Given the description of an element on the screen output the (x, y) to click on. 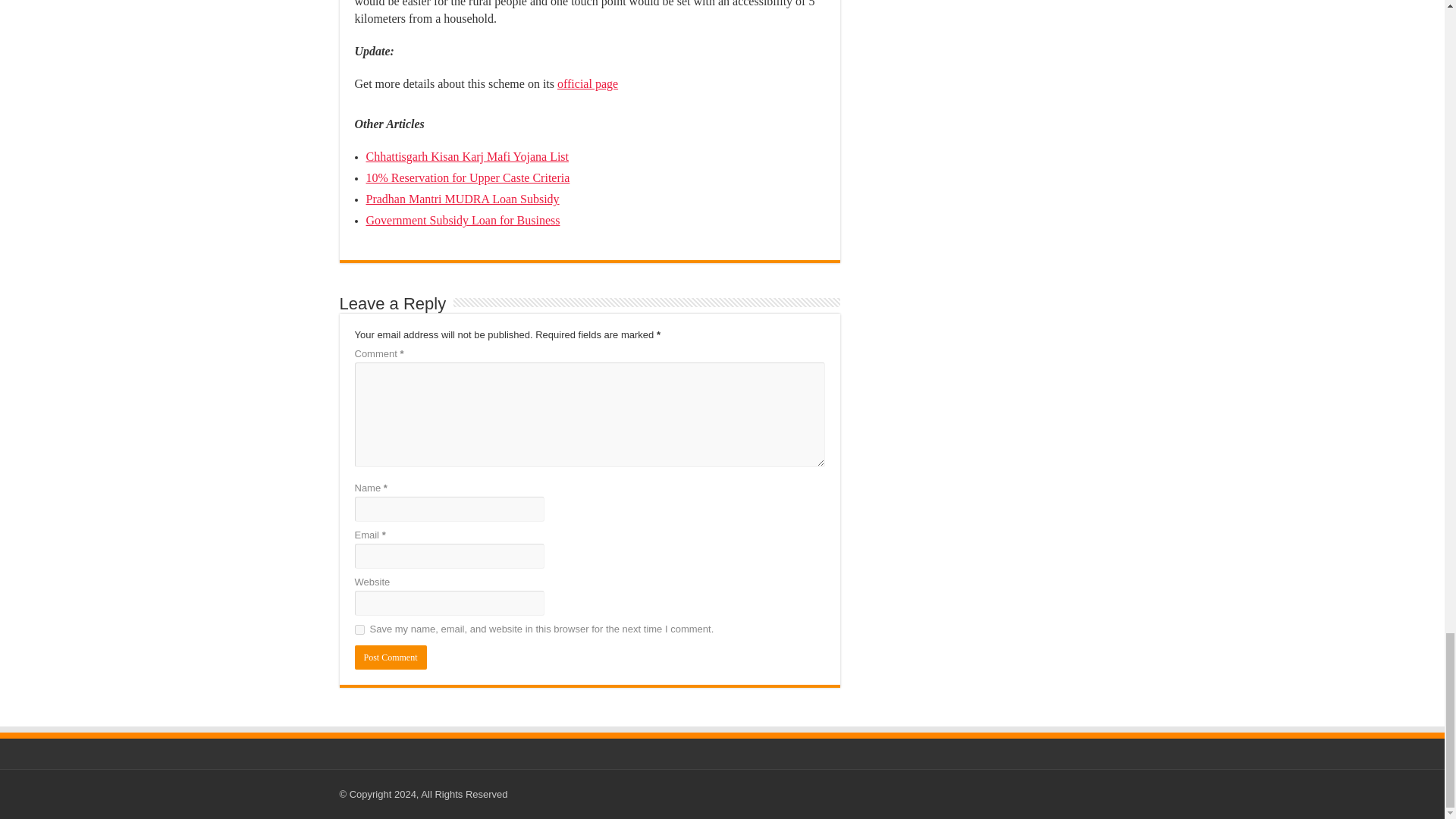
Post Comment (390, 657)
Chhattisgarh Kisan Karj Mafi Yojana List (467, 155)
Pradhan Mantri MUDRA Loan Subsidy (462, 198)
Government Subsidy Loan for Business (462, 219)
official page (587, 83)
Post Comment (390, 657)
yes (360, 629)
